Given the description of an element on the screen output the (x, y) to click on. 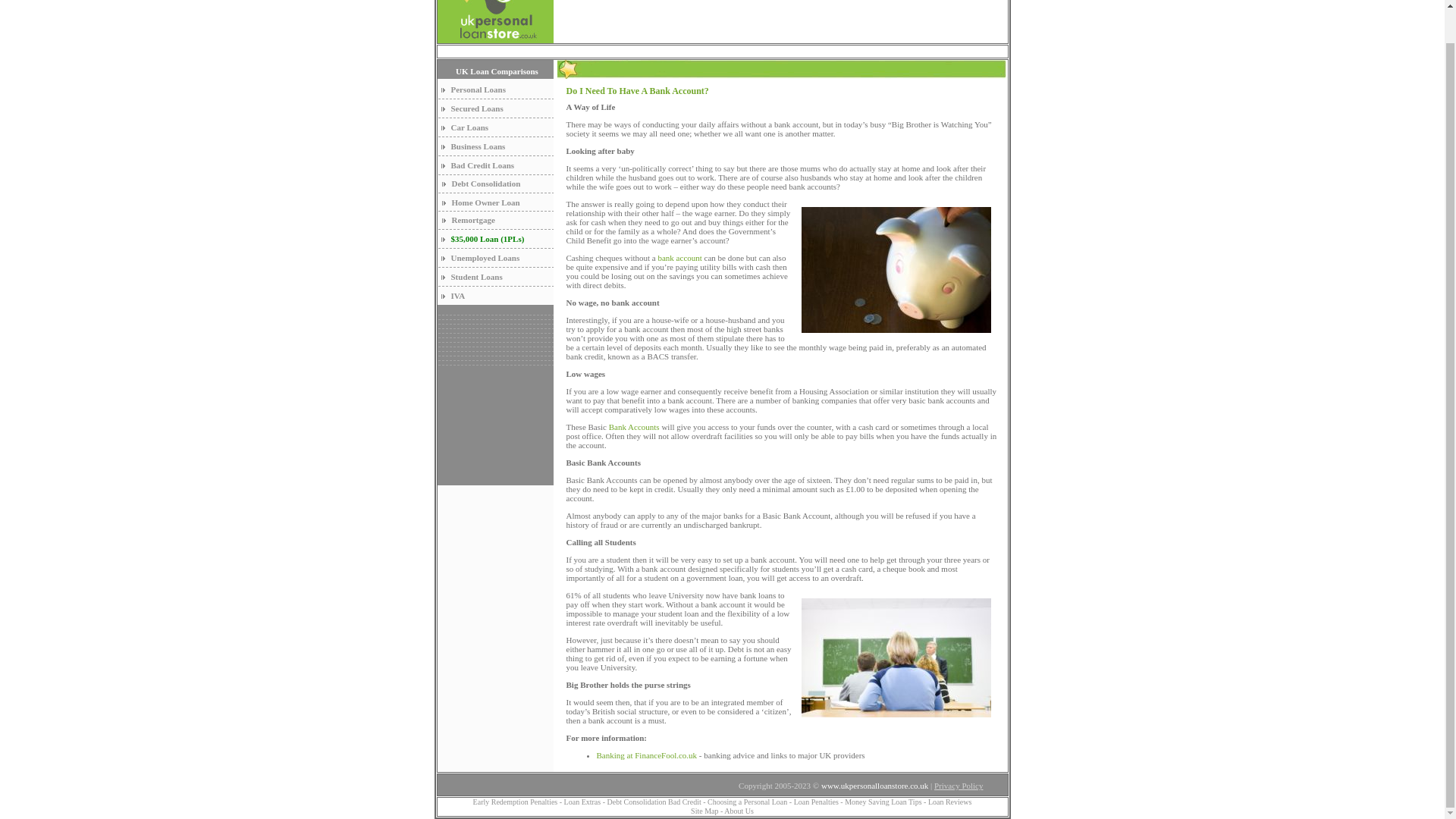
Bank Accounts (633, 426)
Business Loans (477, 145)
Loan Penalties (815, 801)
Site Map (703, 810)
Home Owner Loan (485, 202)
Remortgage (473, 219)
bank account (679, 257)
Personal Loans (477, 89)
Loan Extras (583, 801)
www.ukpersonalloanstore.co.uk (874, 785)
Student Loans (475, 276)
Loan Reviews (950, 801)
1PLs Company - Loans up to 35000 dollar (486, 238)
Money Saving Loan Tips (882, 801)
Banking at FinanceFool.co.uk (646, 755)
